Given the description of an element on the screen output the (x, y) to click on. 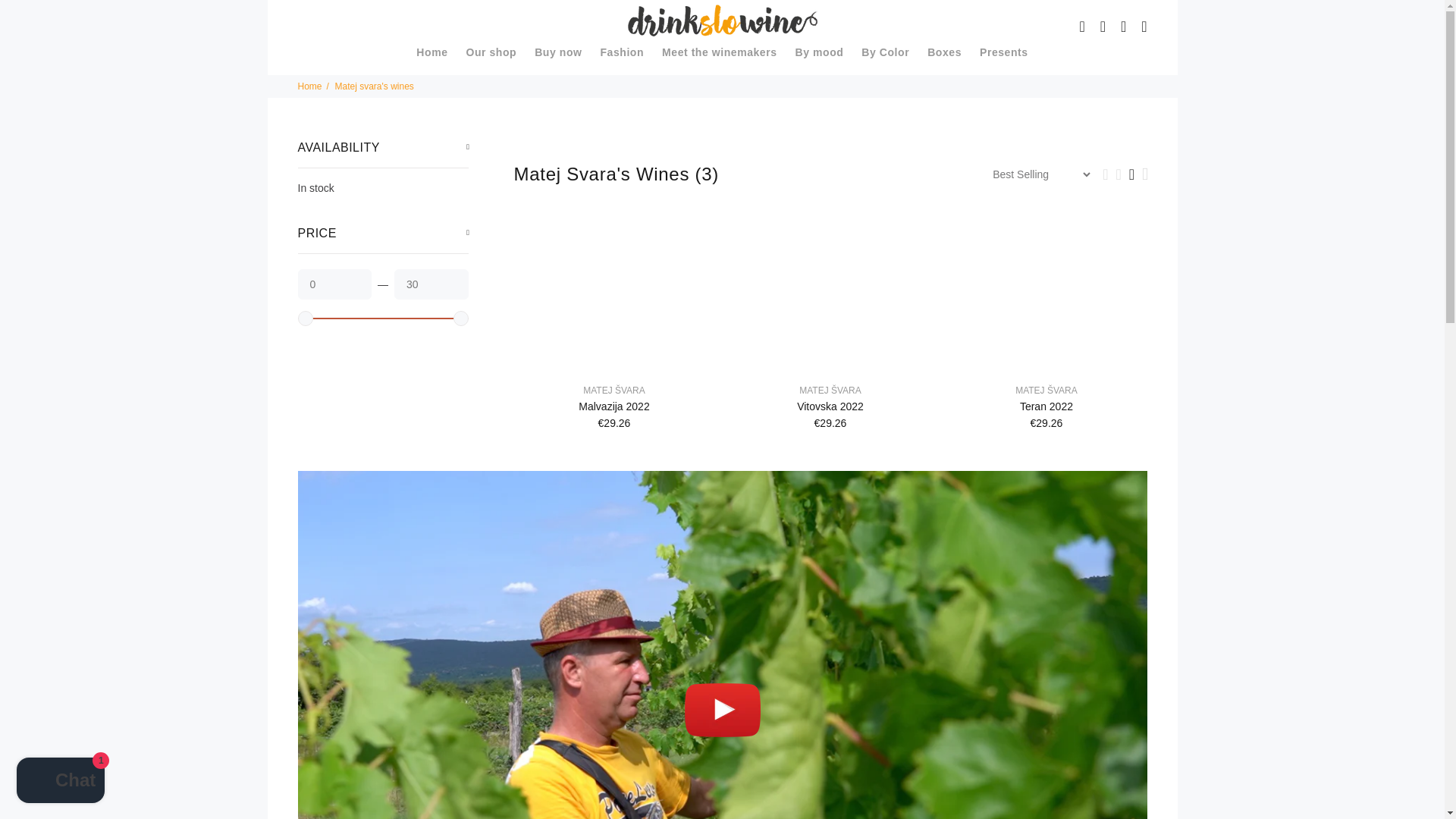
30 (431, 284)
Shopify online store chat (60, 781)
